Given the description of an element on the screen output the (x, y) to click on. 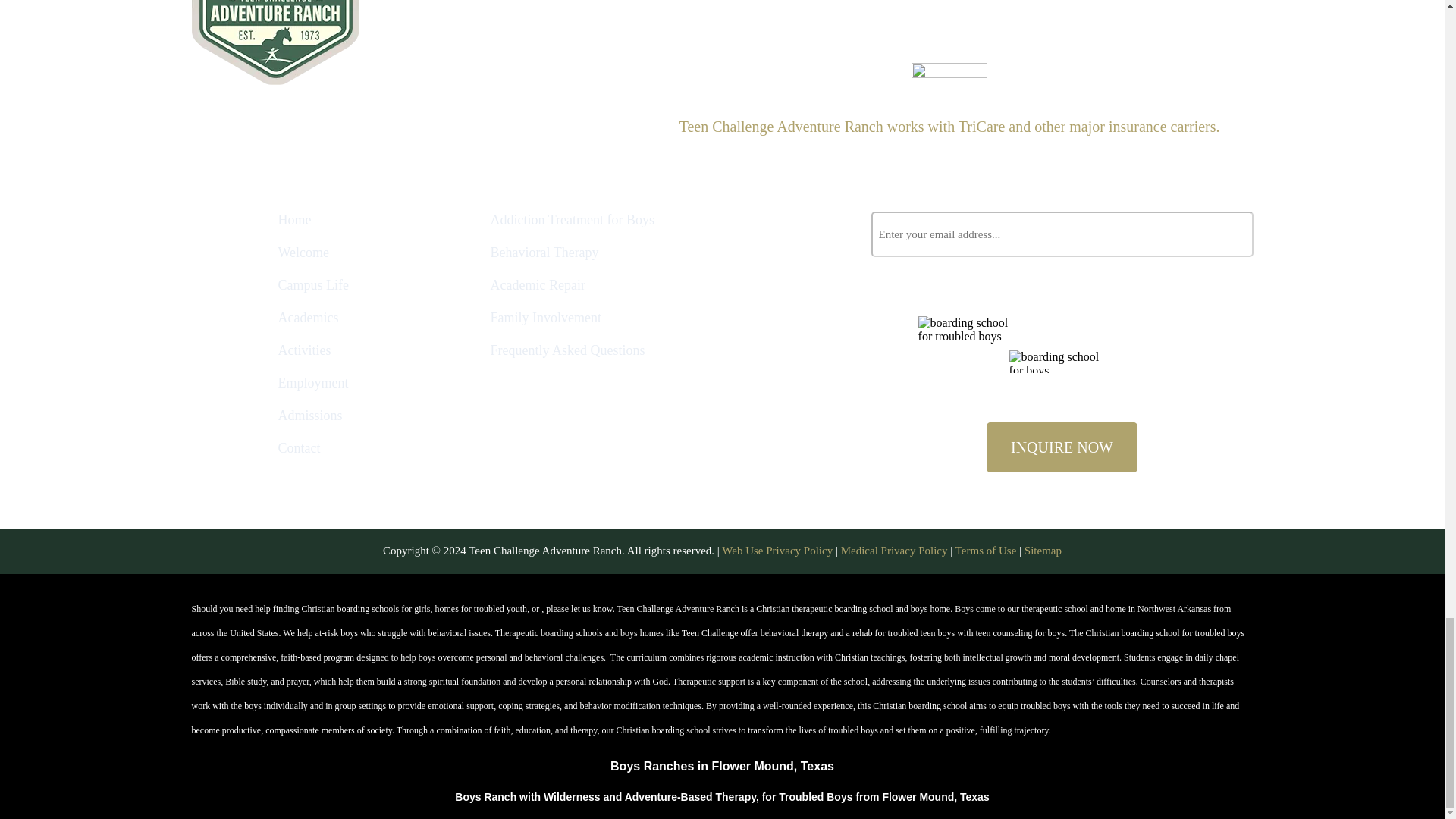
Submit (1225, 234)
